Given the description of an element on the screen output the (x, y) to click on. 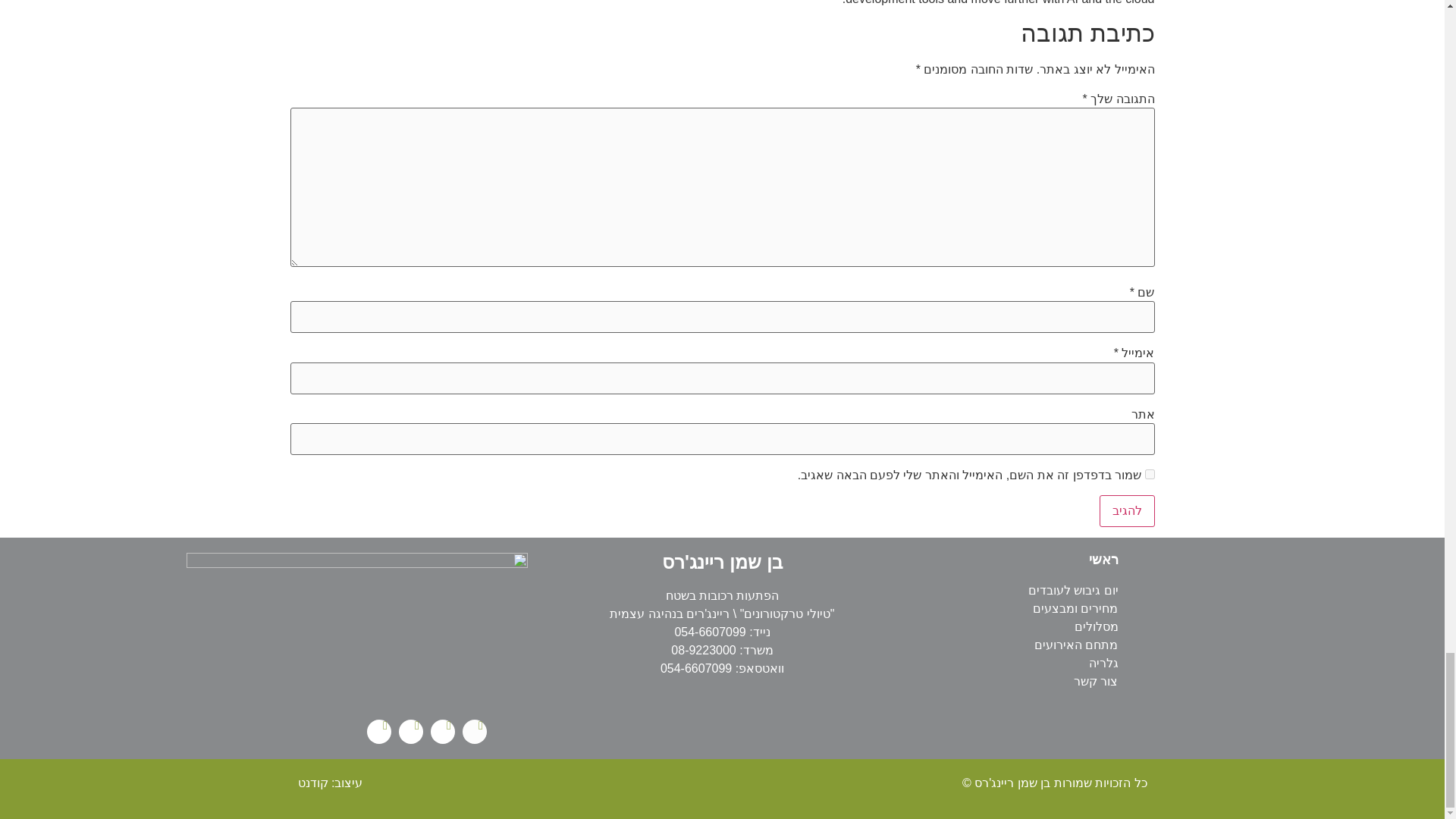
yes (1149, 473)
